Given the description of an element on the screen output the (x, y) to click on. 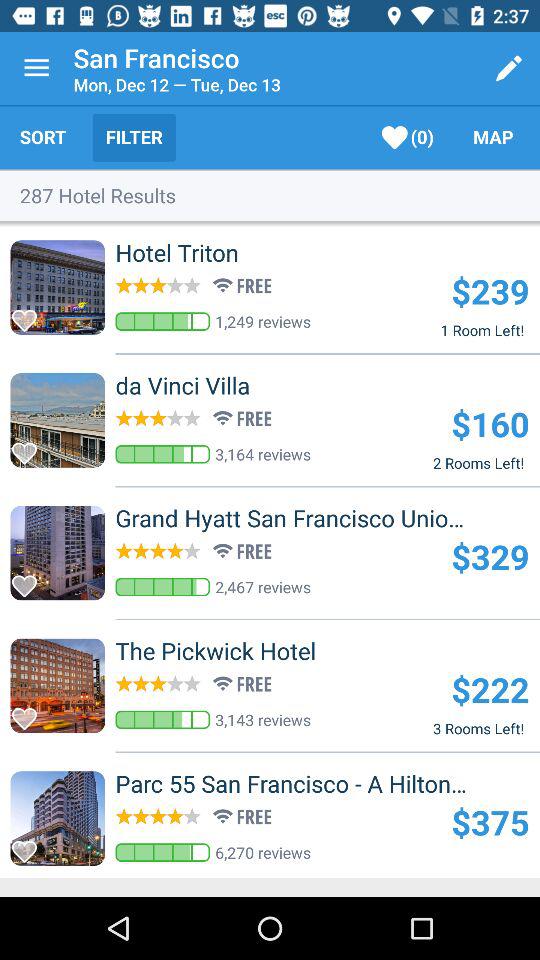
press the $239 item (490, 290)
